Given the description of an element on the screen output the (x, y) to click on. 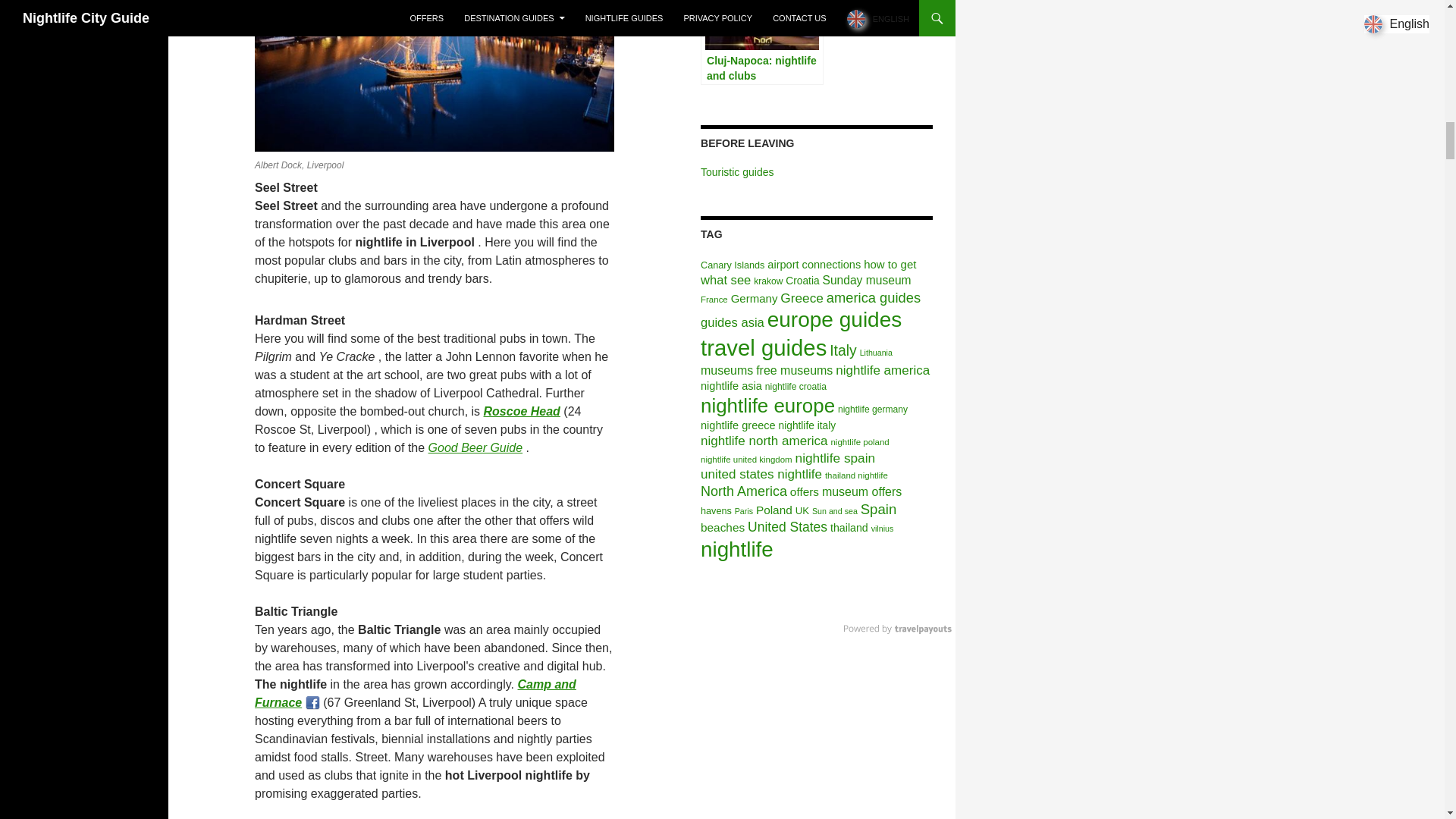
Liverpool Roscoe Head nightlife (521, 410)
guide to good beer (475, 447)
Liverpool Camp and Furnace nightlife (415, 693)
